Given the description of an element on the screen output the (x, y) to click on. 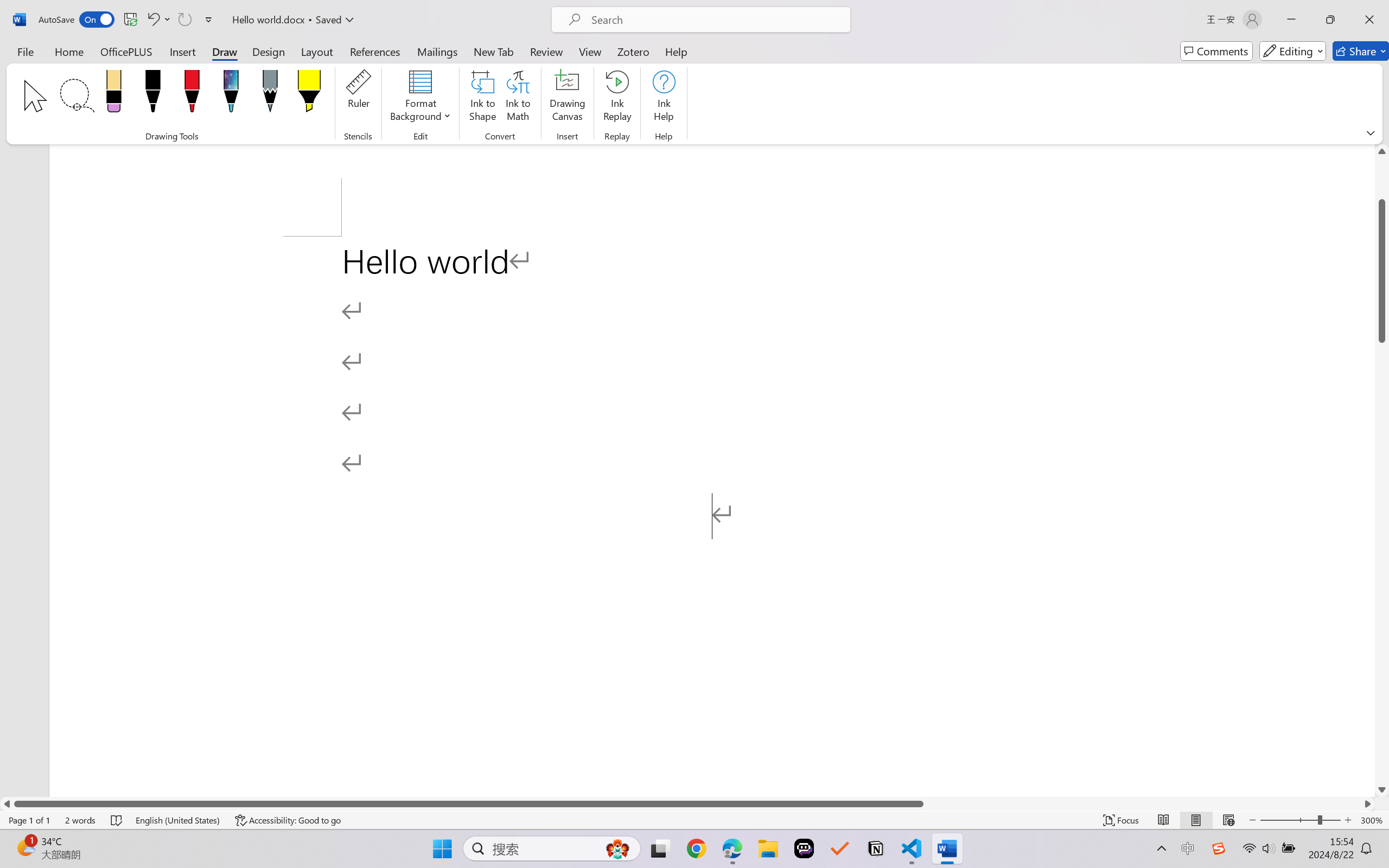
Column left (6, 803)
Highlighter: Yellow, 6 mm (309, 94)
OfficePLUS (126, 51)
Pencil: Gray, 1 mm (270, 94)
File Tab (24, 51)
Ink Replay (617, 97)
References (375, 51)
Zoom Out (1288, 819)
Review (546, 51)
Class: MsoCommandBar (694, 72)
Undo Click and Type Formatting (152, 19)
More Options (167, 19)
